Given the description of an element on the screen output the (x, y) to click on. 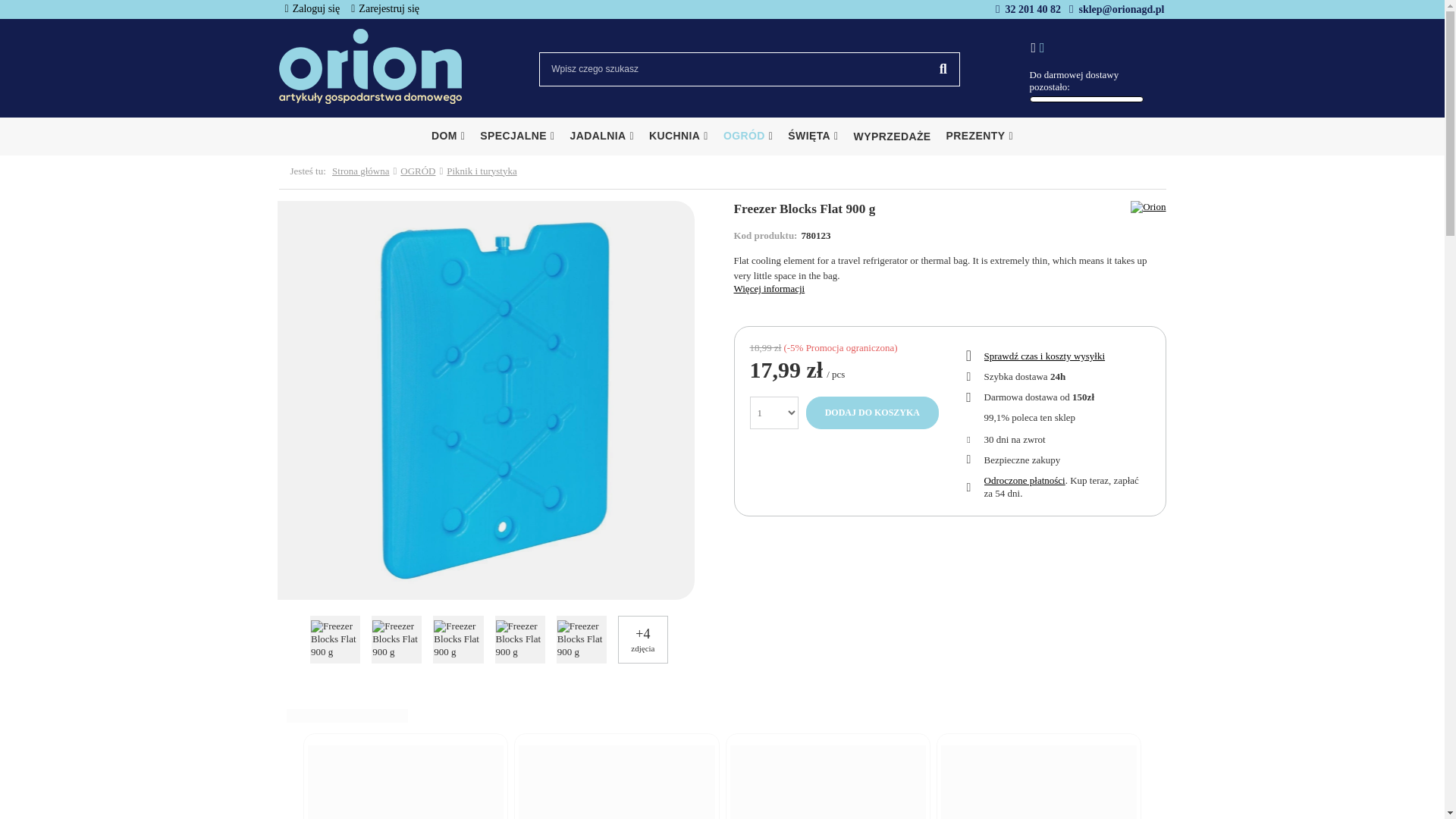
Orion (1148, 206)
JADALNIA (602, 136)
SPECJALNE (516, 136)
KUCHNIA (679, 136)
DOM (447, 136)
DOM (447, 136)
PREZENTY (979, 136)
32 201 40 82 (1033, 9)
